Given the description of an element on the screen output the (x, y) to click on. 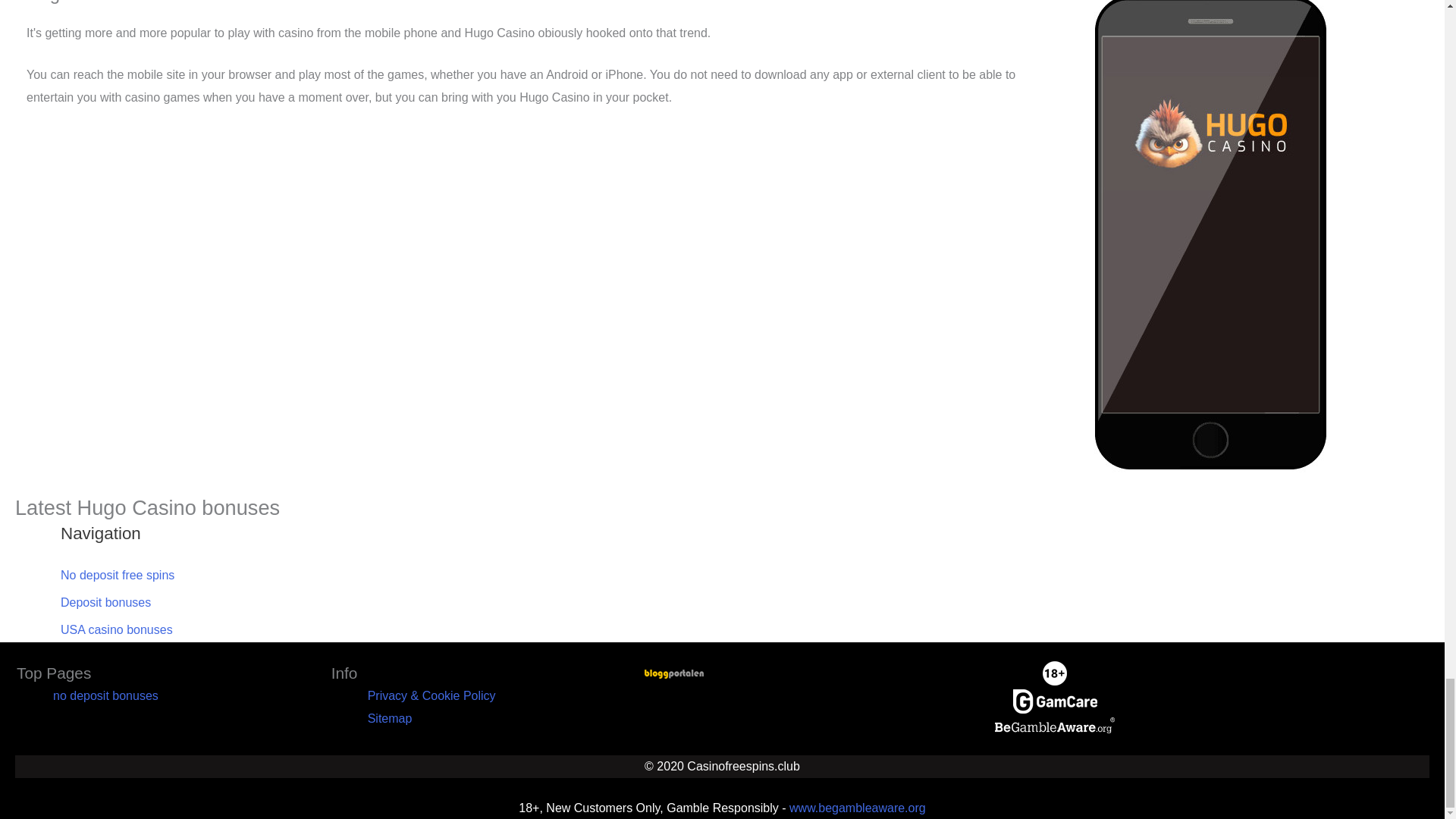
Sitemap (390, 717)
No deposit free spins (117, 574)
Deposit bonuses (106, 602)
no deposit bonuses (105, 695)
USA casino bonuses (117, 629)
